Given the description of an element on the screen output the (x, y) to click on. 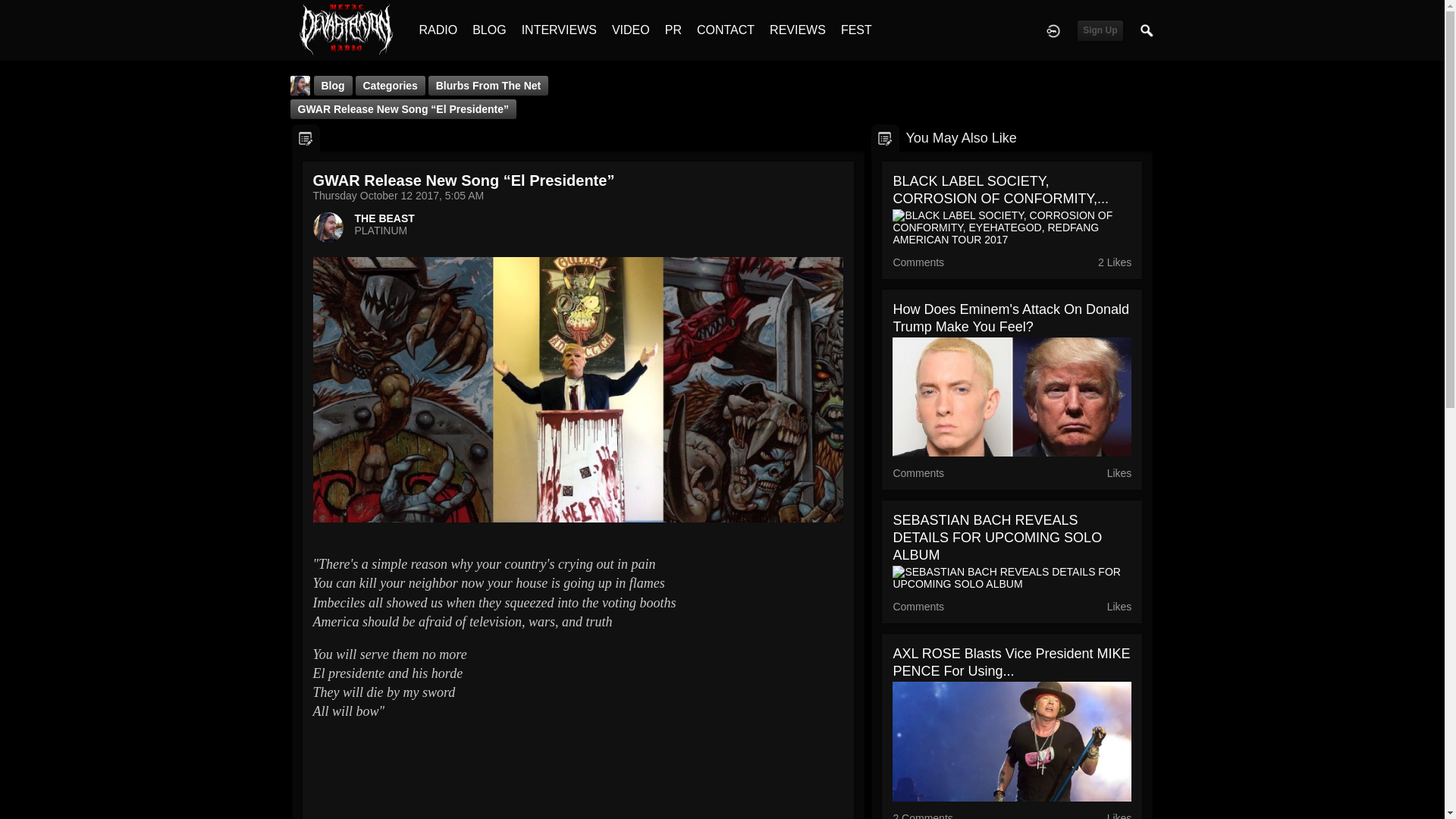
BLOG (488, 29)
login (1053, 30)
REVIEWS (797, 29)
Sign Up (1099, 30)
Metal Devastation Radio (346, 29)
CONTACT (725, 29)
Search (1146, 30)
INTERVIEWS (558, 29)
Blog (333, 85)
VIDEO (630, 29)
